Given the description of an element on the screen output the (x, y) to click on. 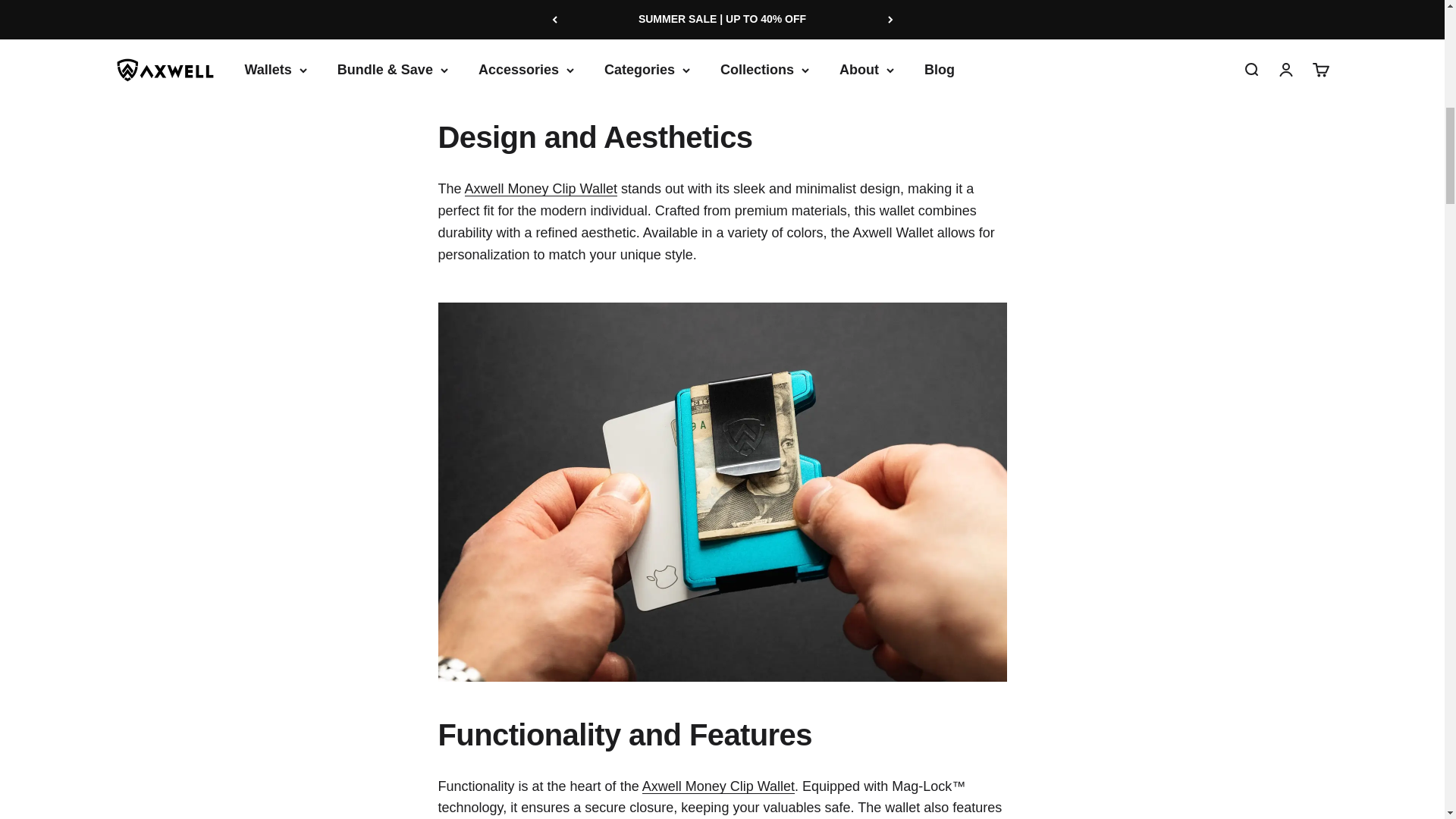
Best Money Clip Wallets (489, 69)
Axwell Money Clip Wallet (640, 91)
Axwell Money Clip Wallet (540, 188)
Axwell Best Money Clip Wallet (718, 785)
